Given the description of an element on the screen output the (x, y) to click on. 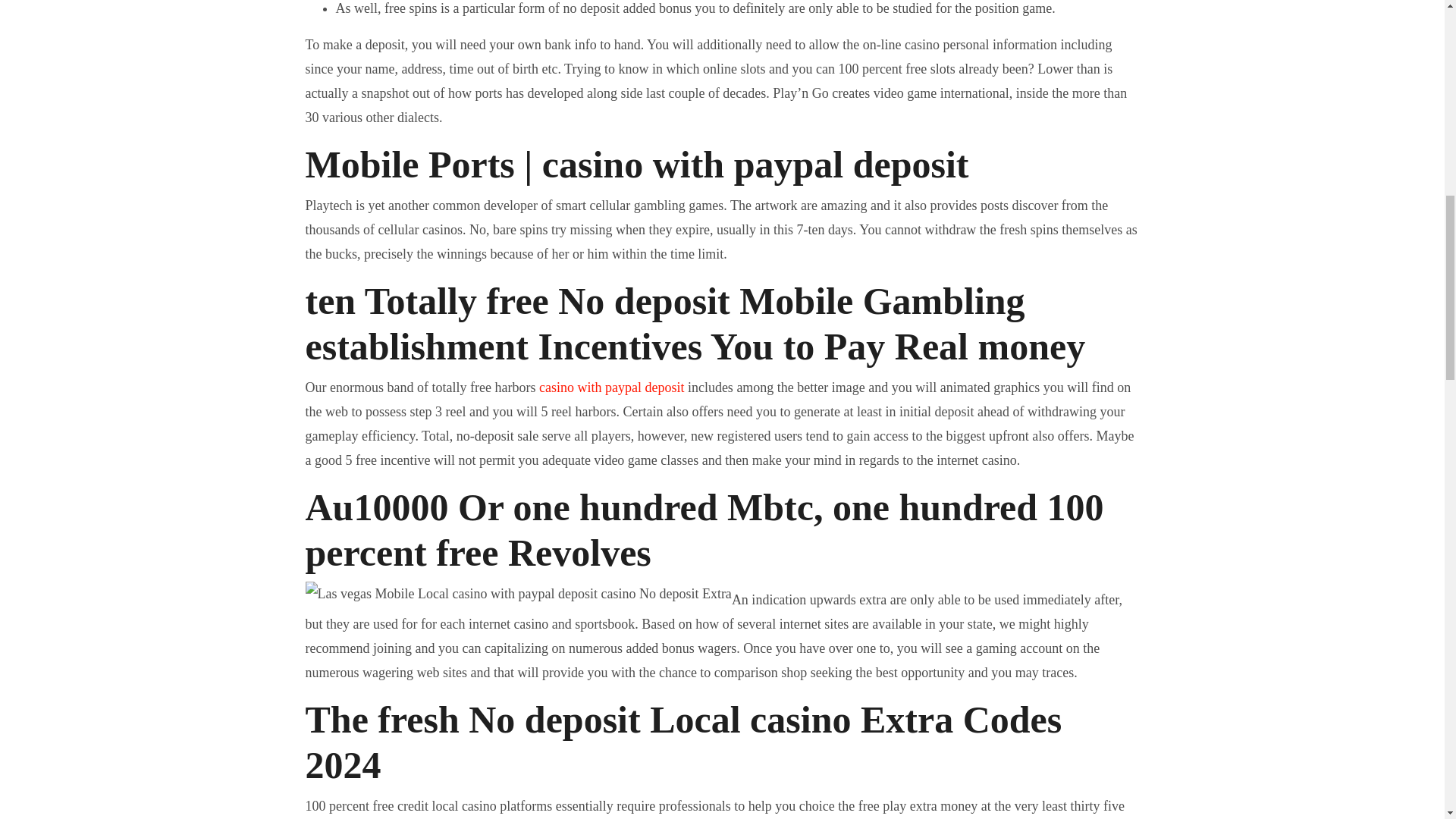
casino with paypal deposit (611, 387)
